Given the description of an element on the screen output the (x, y) to click on. 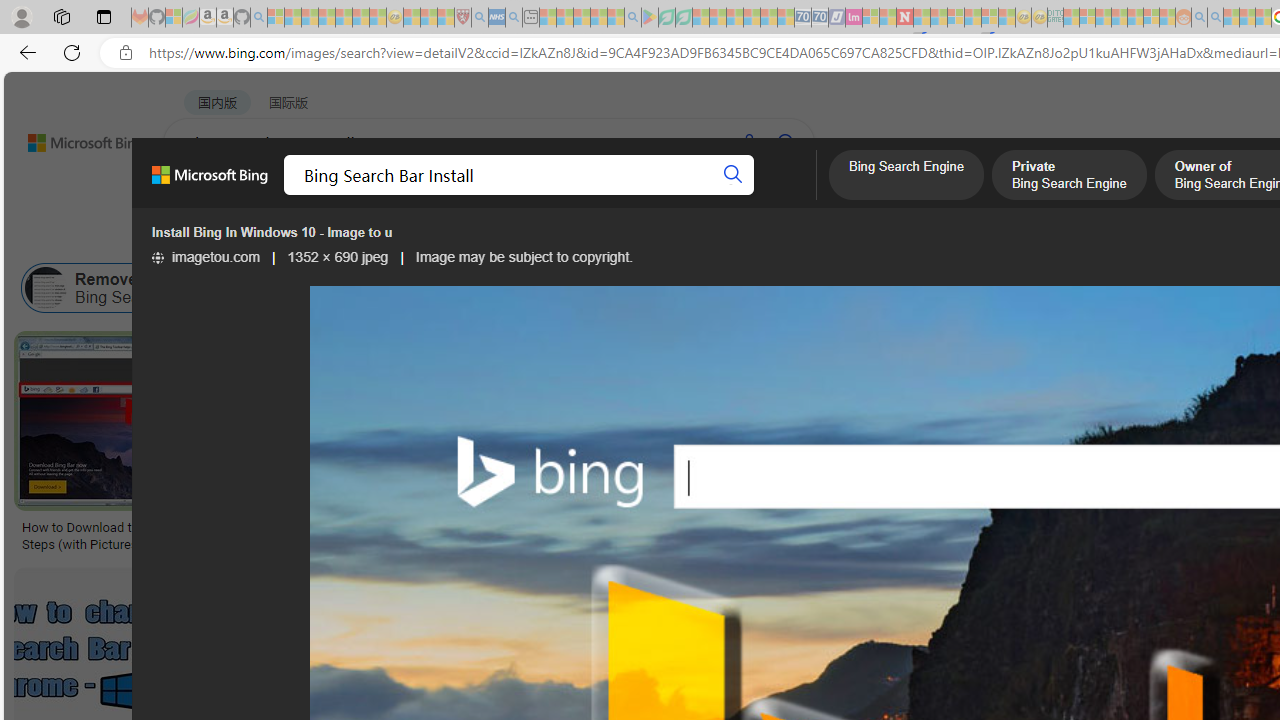
Bluey: Let's Play! - Apps on Google Play - Sleeping (649, 17)
Date (591, 237)
ACADEMIC (635, 195)
imagetou.com (205, 257)
Bing Web Search Bar (245, 287)
Dropdown Menu (793, 195)
